Given the description of an element on the screen output the (x, y) to click on. 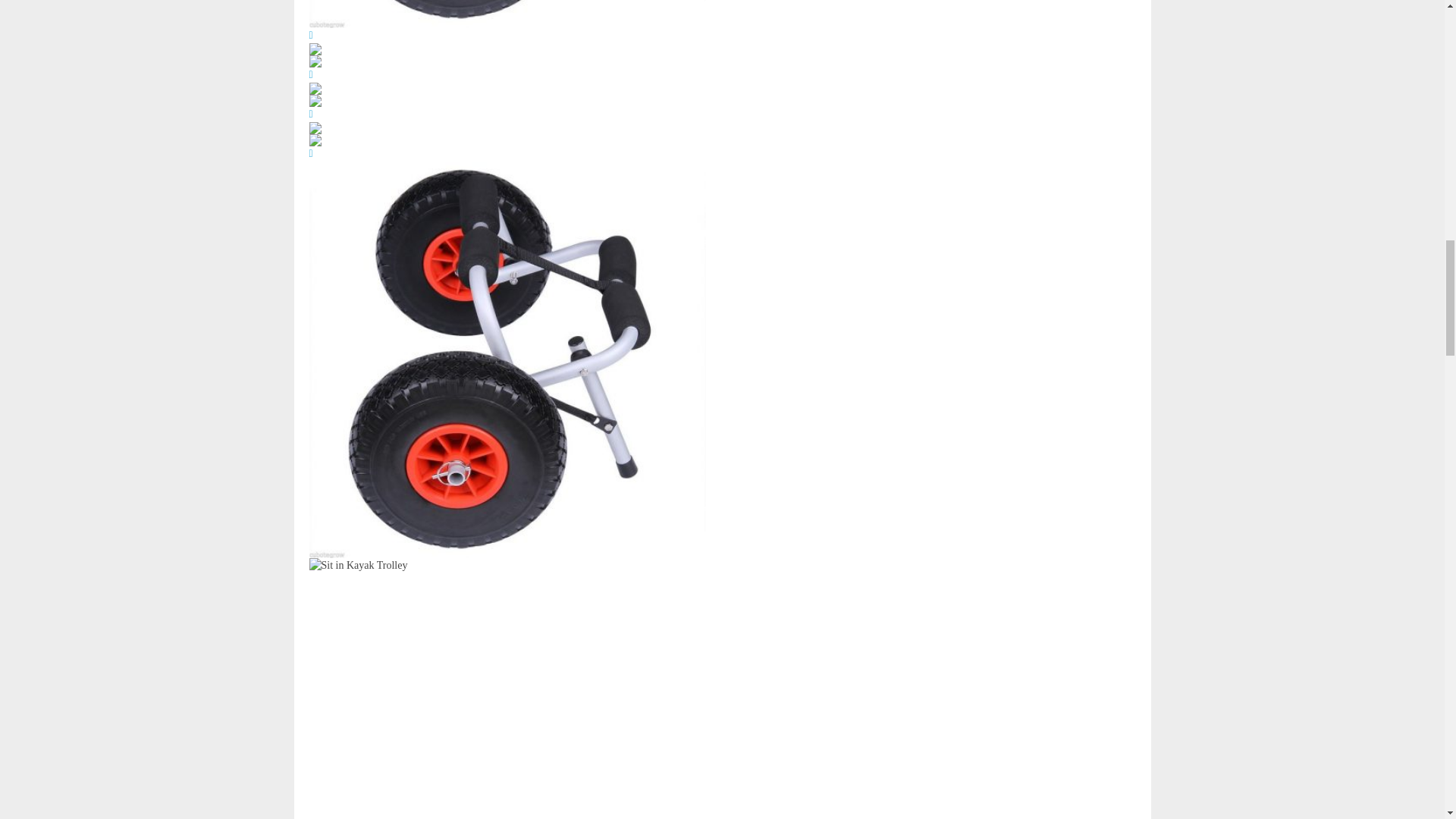
Kayak Trolley - Sit in (507, 13)
Kayak Trolley - Sit in (507, 688)
